Given the description of an element on the screen output the (x, y) to click on. 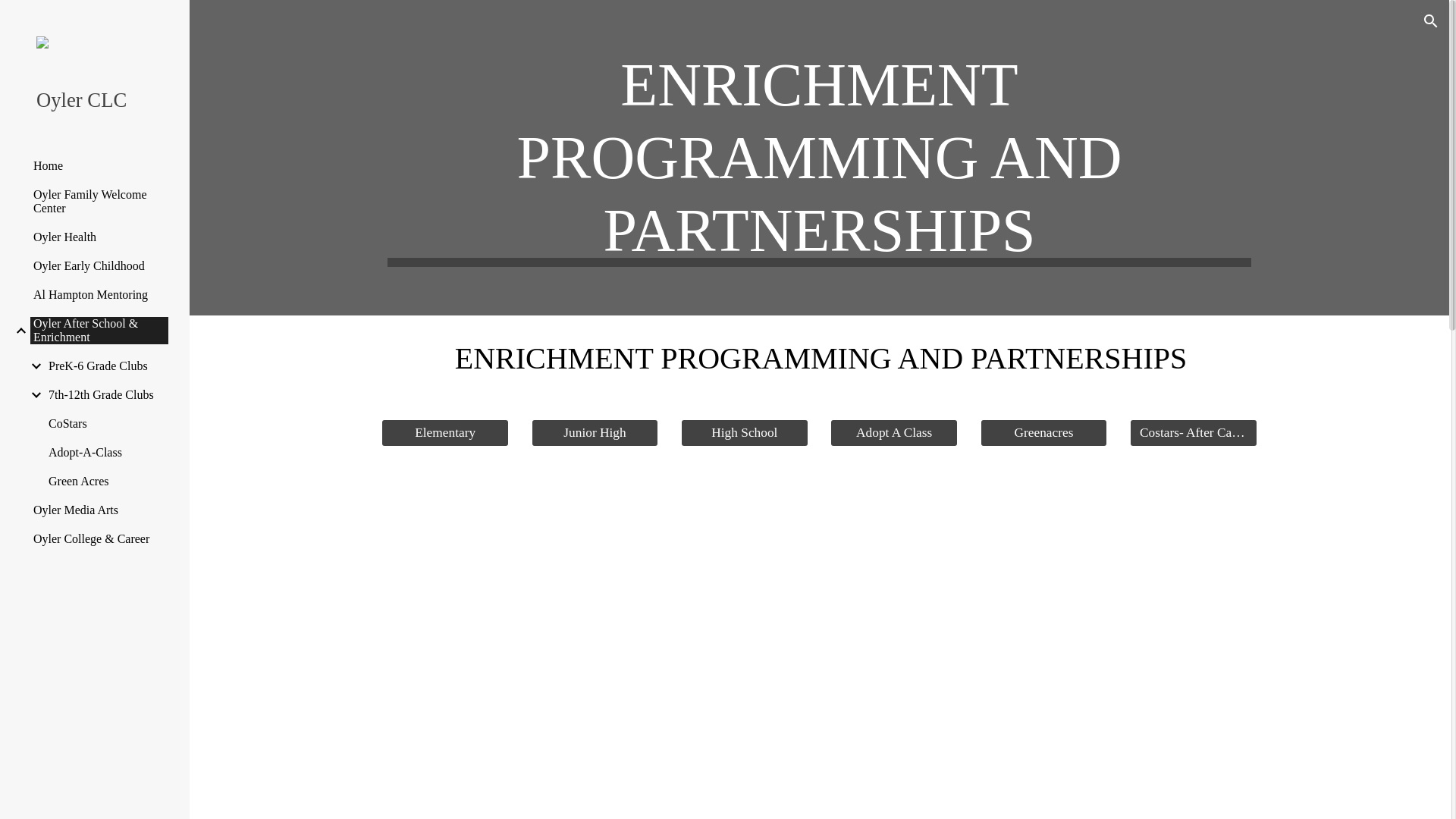
High School (744, 433)
PreK-6 Grade Clubs (107, 366)
Elementary (444, 433)
Junior High (595, 433)
Oyler Early Childhood (99, 265)
Costars- After Care Program (1193, 433)
Al Hampton Mentoring (99, 295)
Adopt-A-Class (107, 452)
Home (99, 165)
Oyler Media Arts (99, 509)
